Given the description of an element on the screen output the (x, y) to click on. 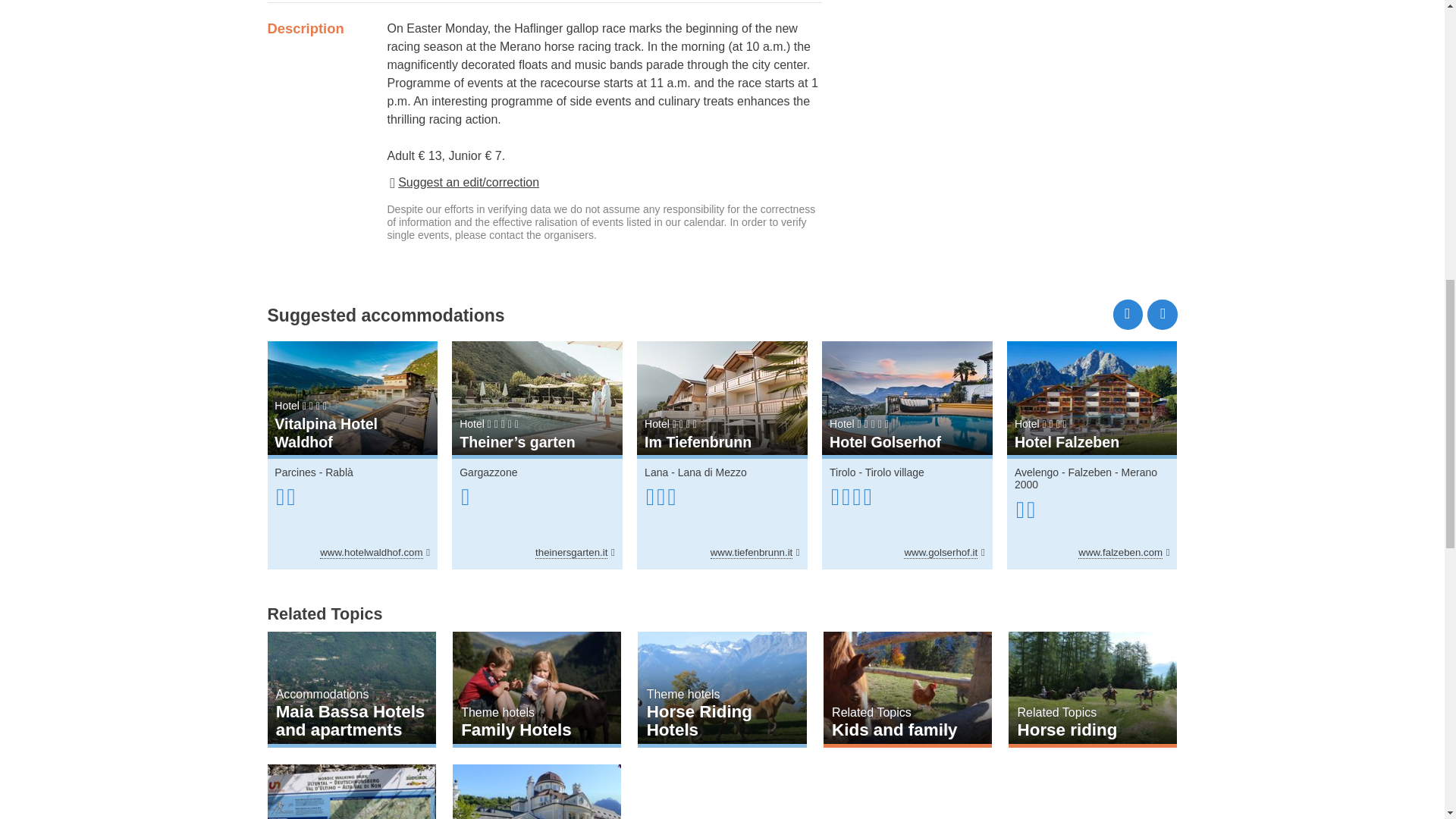
Information about Parcines (295, 472)
Avelengo (1036, 472)
theinersgarten.it (574, 552)
www.hotelwaldhof.com (374, 552)
Hotel 4 stars superior (537, 424)
www.golserhof.it (944, 552)
Falzeben - Merano 2000 (1085, 478)
Information about Gargazzone (488, 472)
www.tiefenbrunn.it (754, 552)
Tirolo village (894, 472)
Hotel 4 stars (352, 406)
www.falzeben.com (1123, 552)
Tirolo (842, 472)
Vitalpina Hotel Waldhof (351, 398)
Gargazzone (488, 472)
